Given the description of an element on the screen output the (x, y) to click on. 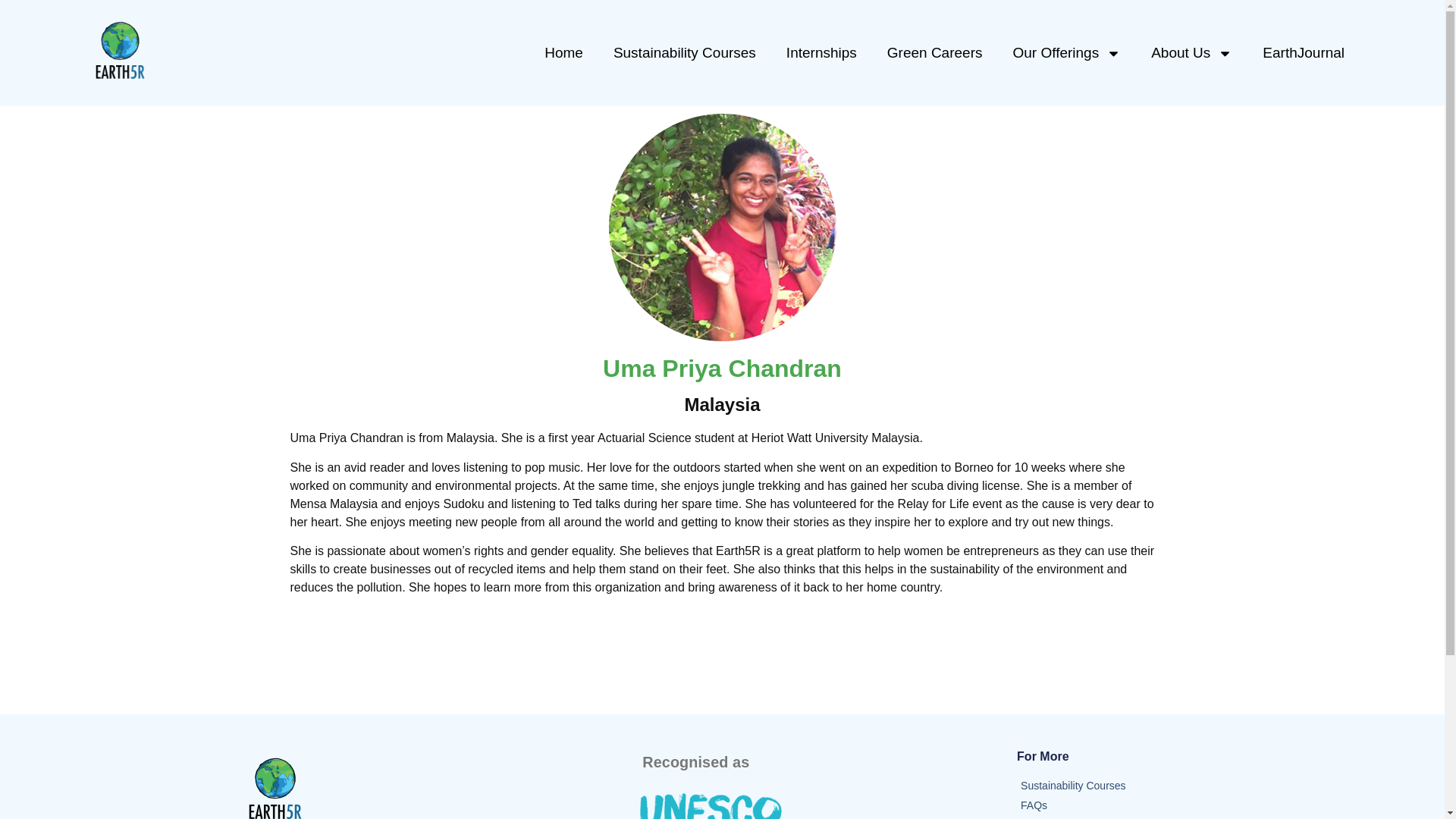
Our Offerings (1066, 53)
Internships (821, 53)
Home (563, 53)
EarthJournal (1303, 53)
Earth5R Sustainability Logo (274, 785)
Green Careers (934, 53)
Sustainability Courses (684, 53)
About Us (1191, 53)
